Given the description of an element on the screen output the (x, y) to click on. 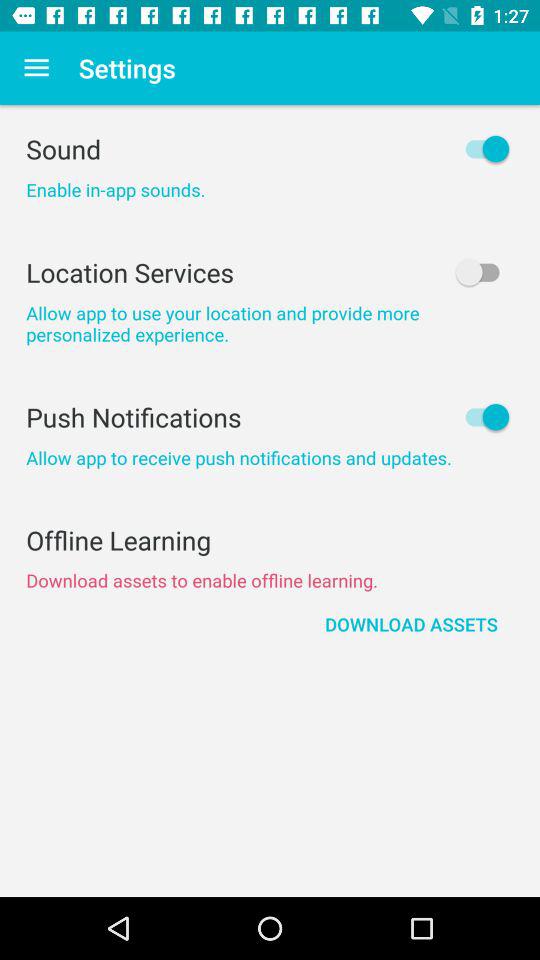
open icon to the left of the settings item (36, 68)
